Given the description of an element on the screen output the (x, y) to click on. 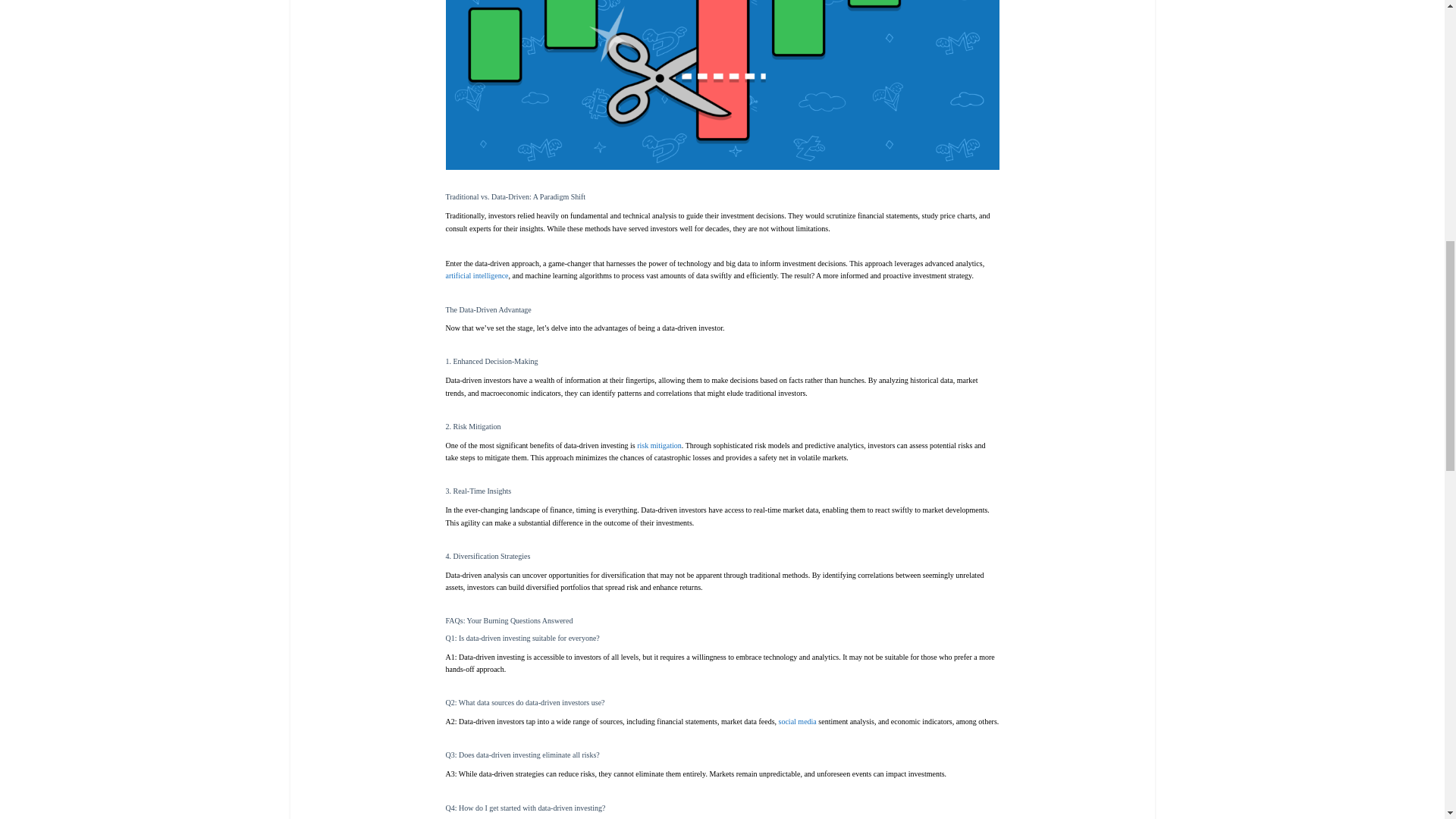
social media (797, 721)
artificial intelligence (476, 275)
risk mitigation (659, 445)
